Given the description of an element on the screen output the (x, y) to click on. 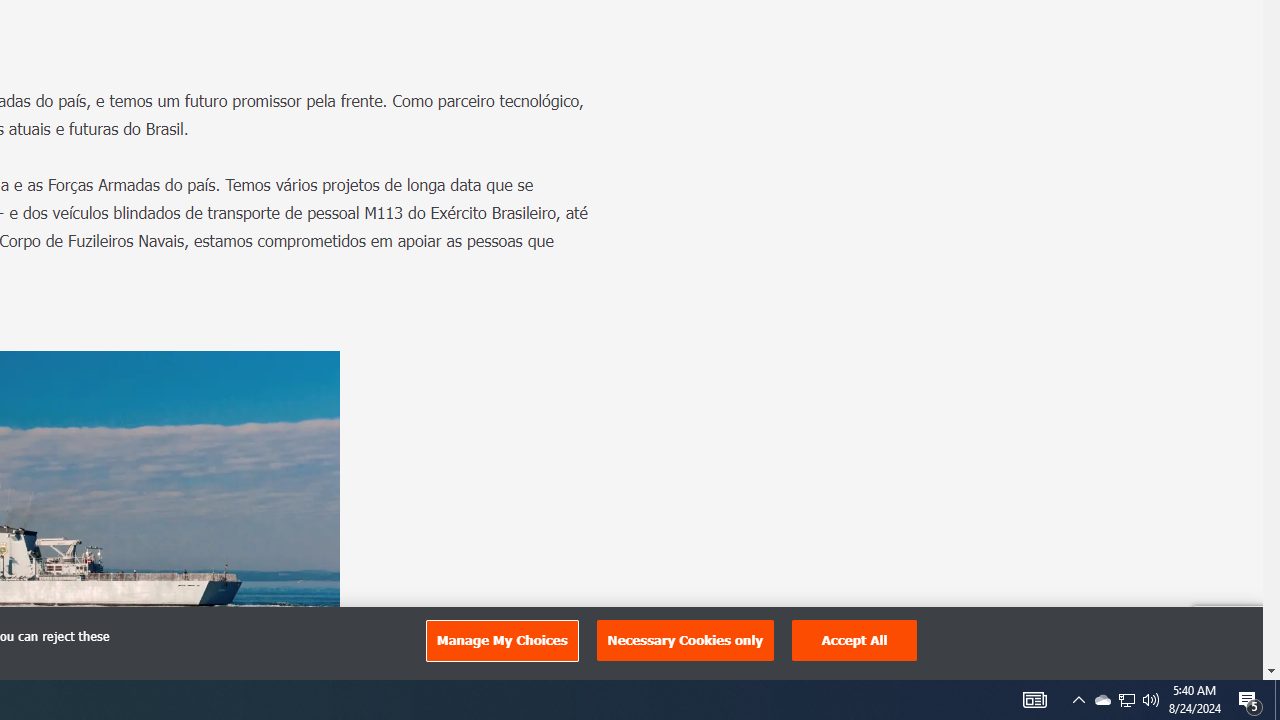
Necessary Cookies only (685, 640)
Privacy (1212, 657)
Accept All (854, 640)
Terms (1244, 657)
Manage My Choices (501, 640)
